Given the description of an element on the screen output the (x, y) to click on. 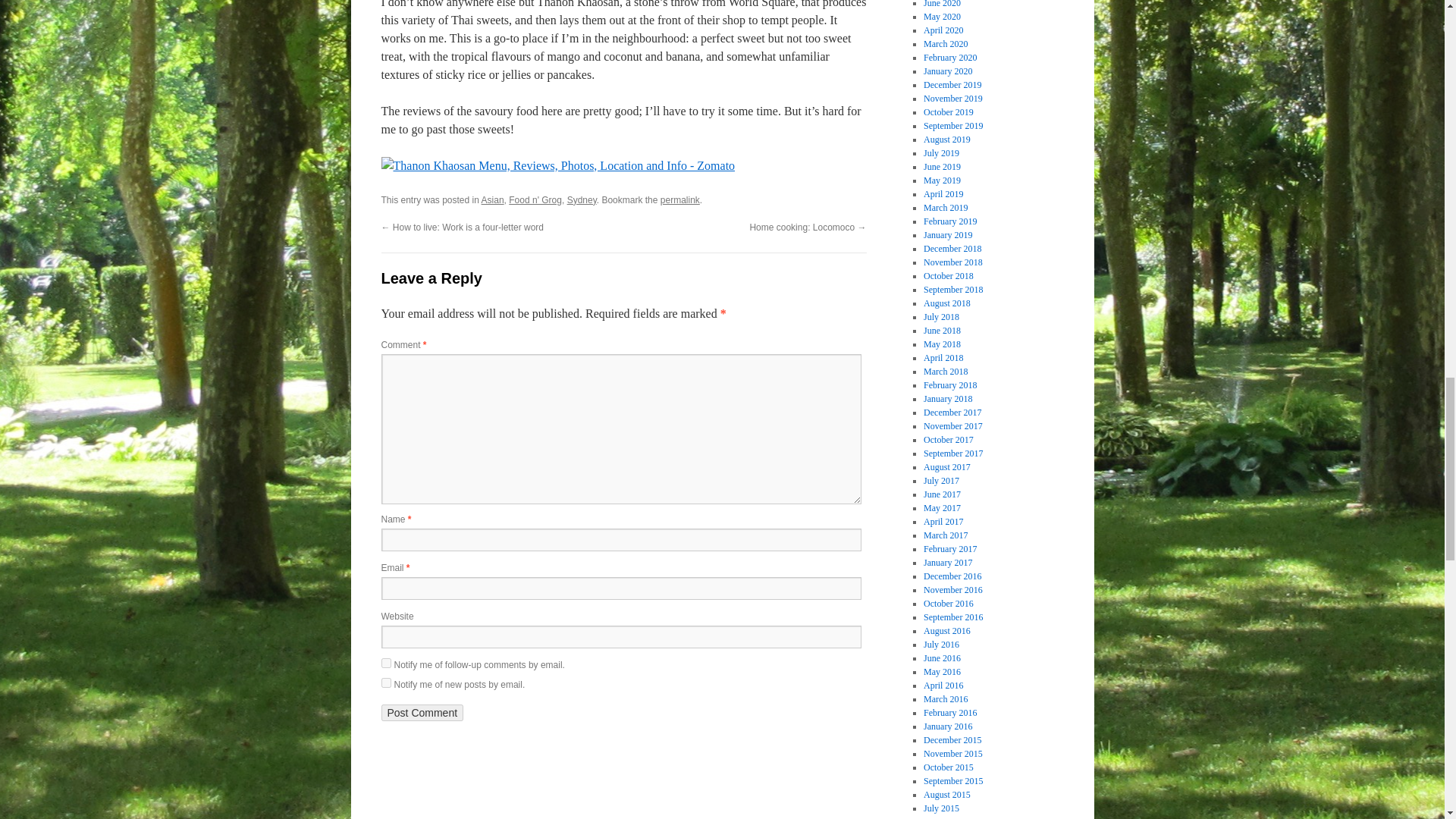
permalink (680, 199)
Sydney (581, 199)
subscribe (385, 663)
Post Comment (421, 712)
Food n' Grog (535, 199)
Permalink to Sydney Food Diary: Thanon Khaosan, Chinatown (680, 199)
Asian (492, 199)
Post Comment (421, 712)
subscribe (385, 682)
